Given the description of an element on the screen output the (x, y) to click on. 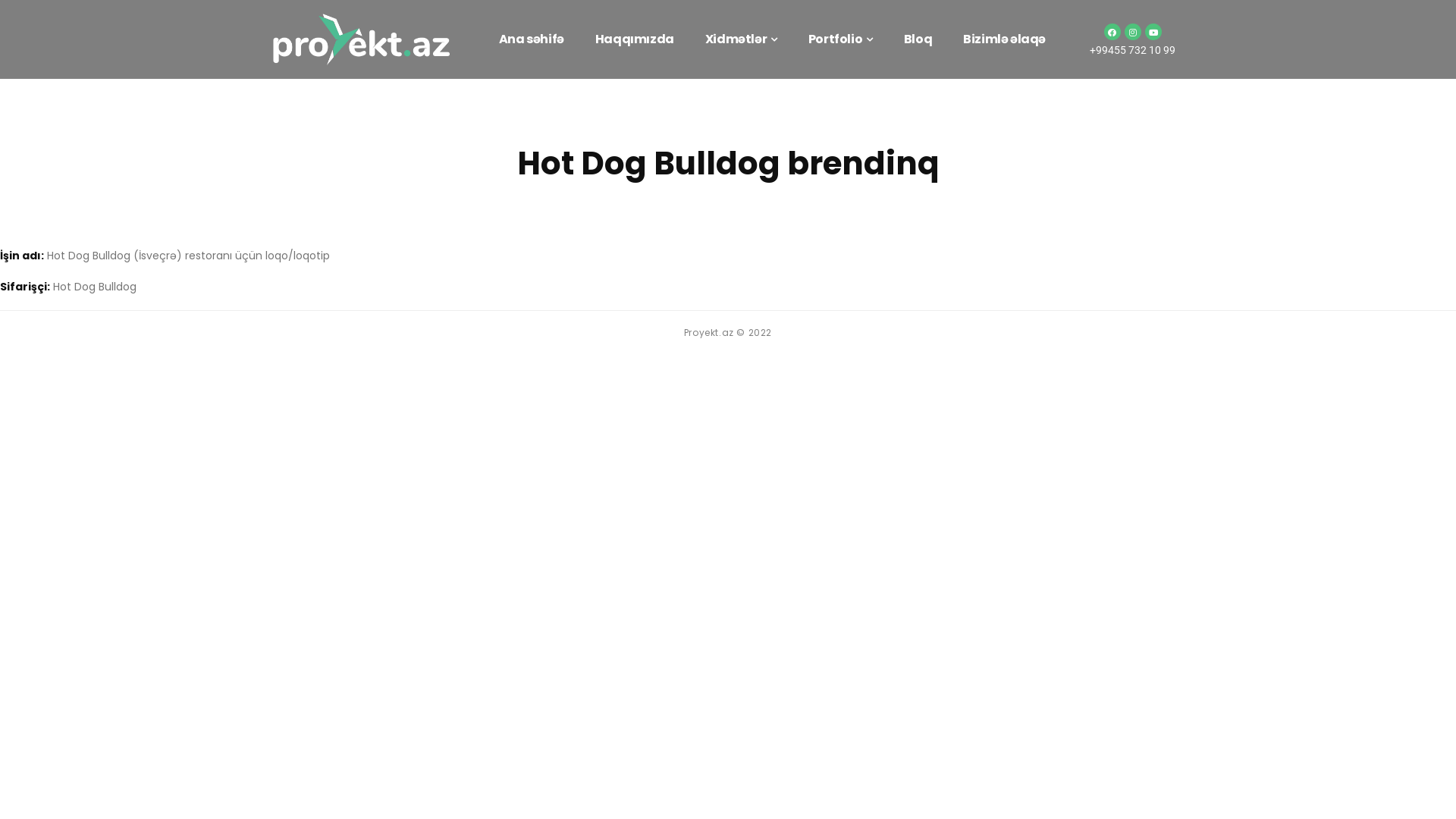
Portfolio Element type: text (840, 39)
Bloq Element type: text (917, 39)
